Given the description of an element on the screen output the (x, y) to click on. 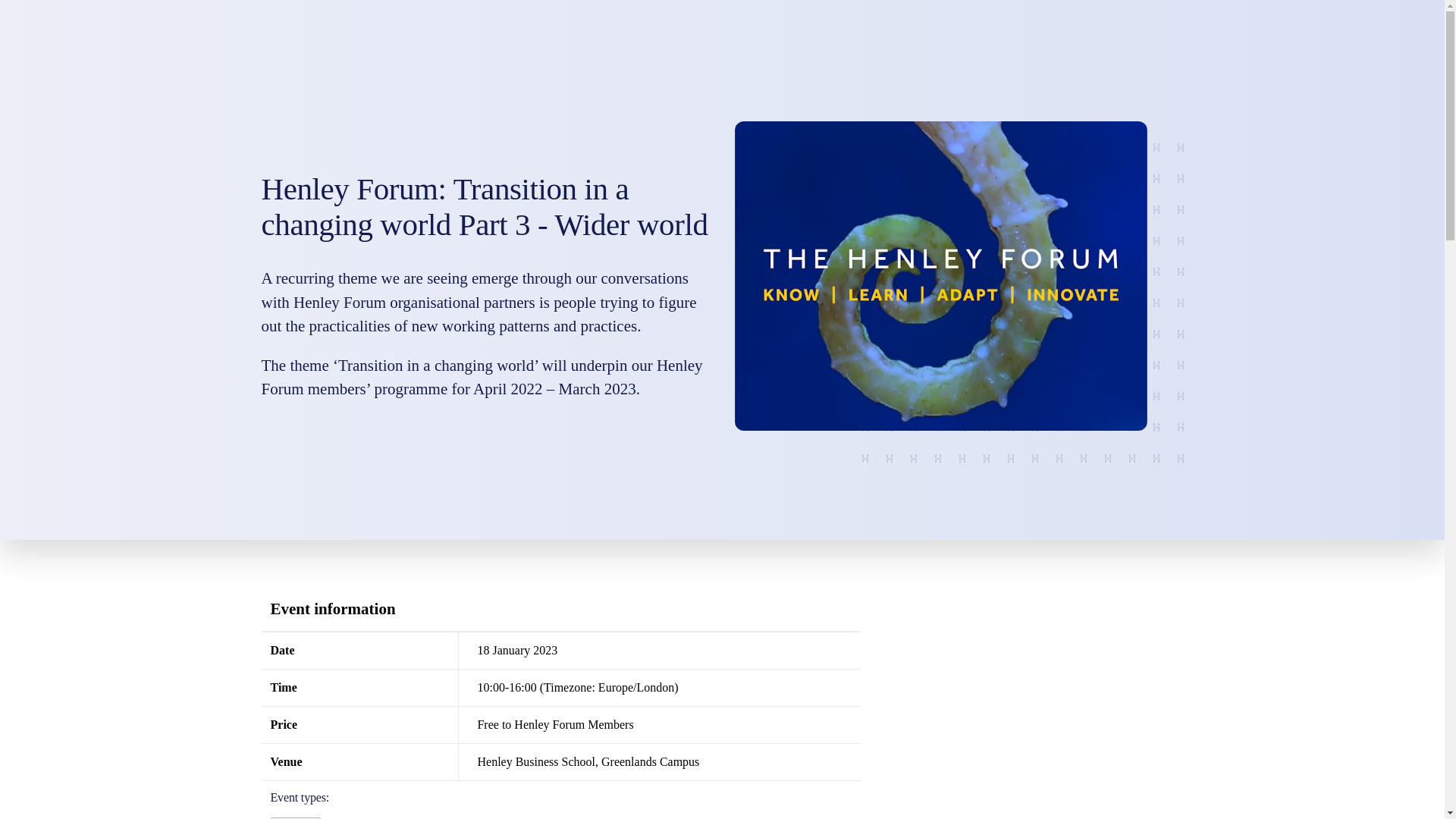
Seminars (294, 818)
